Given the description of an element on the screen output the (x, y) to click on. 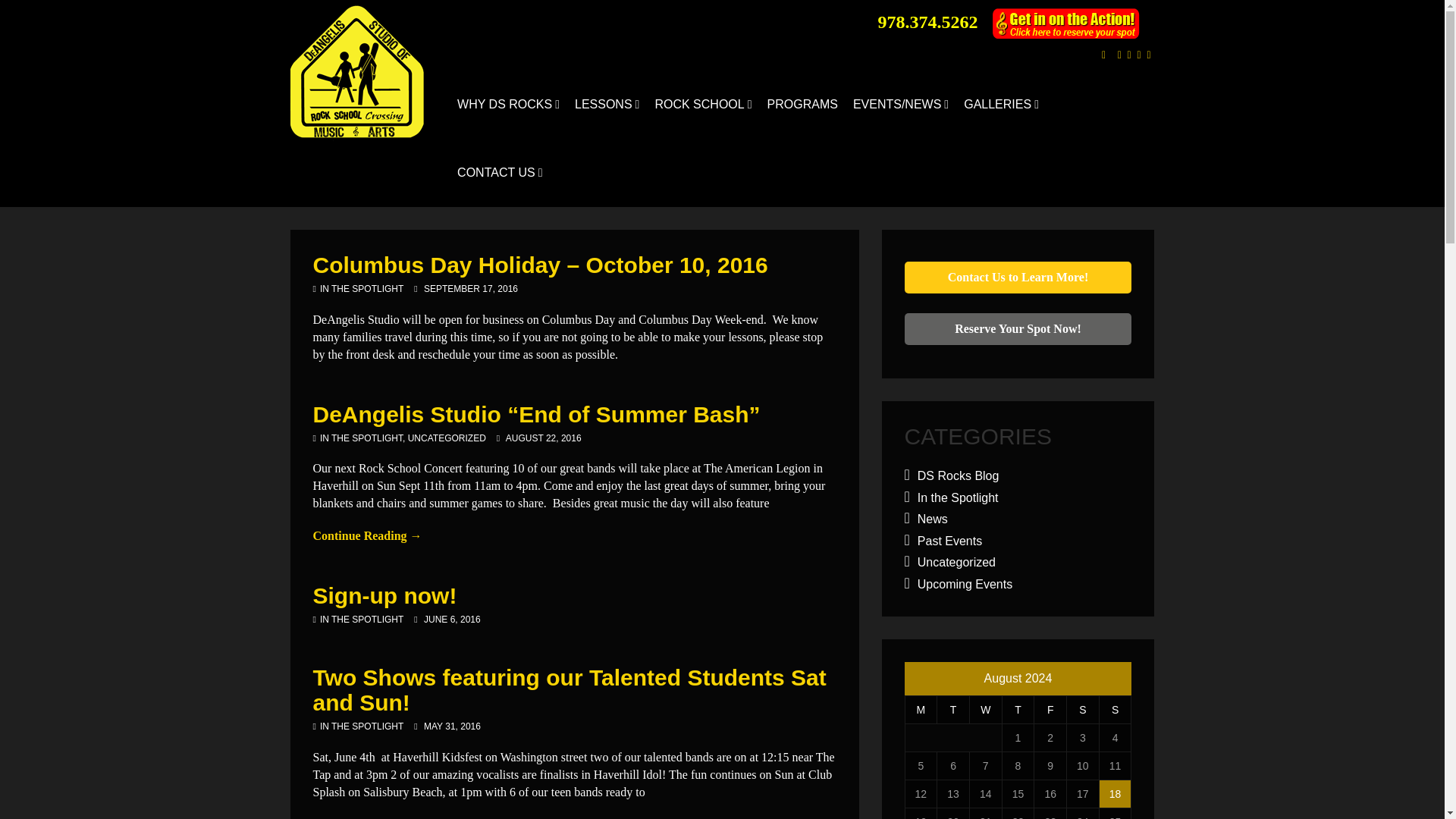
WHY DS ROCKS (508, 104)
ROCK SCHOOL (702, 104)
PROGRAMS (802, 104)
LESSONS (606, 104)
GALLERIES (1001, 104)
CONTACT US (499, 172)
